Given the description of an element on the screen output the (x, y) to click on. 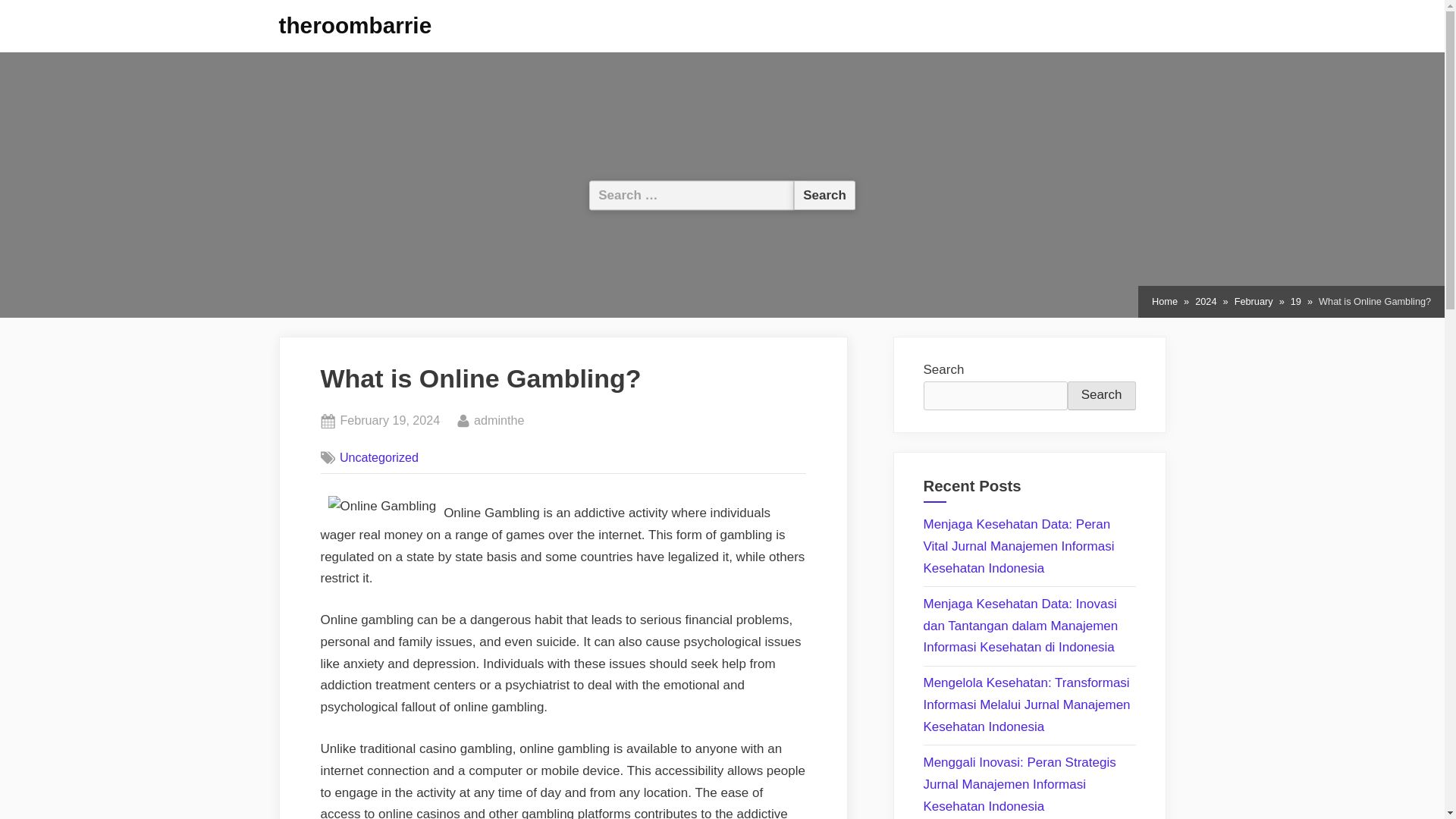
theroombarrie (355, 25)
Home (1164, 301)
Search (1101, 395)
Uncategorized (379, 457)
February (1253, 301)
Search (824, 194)
Search (824, 194)
Search (824, 194)
2024 (389, 420)
